Given the description of an element on the screen output the (x, y) to click on. 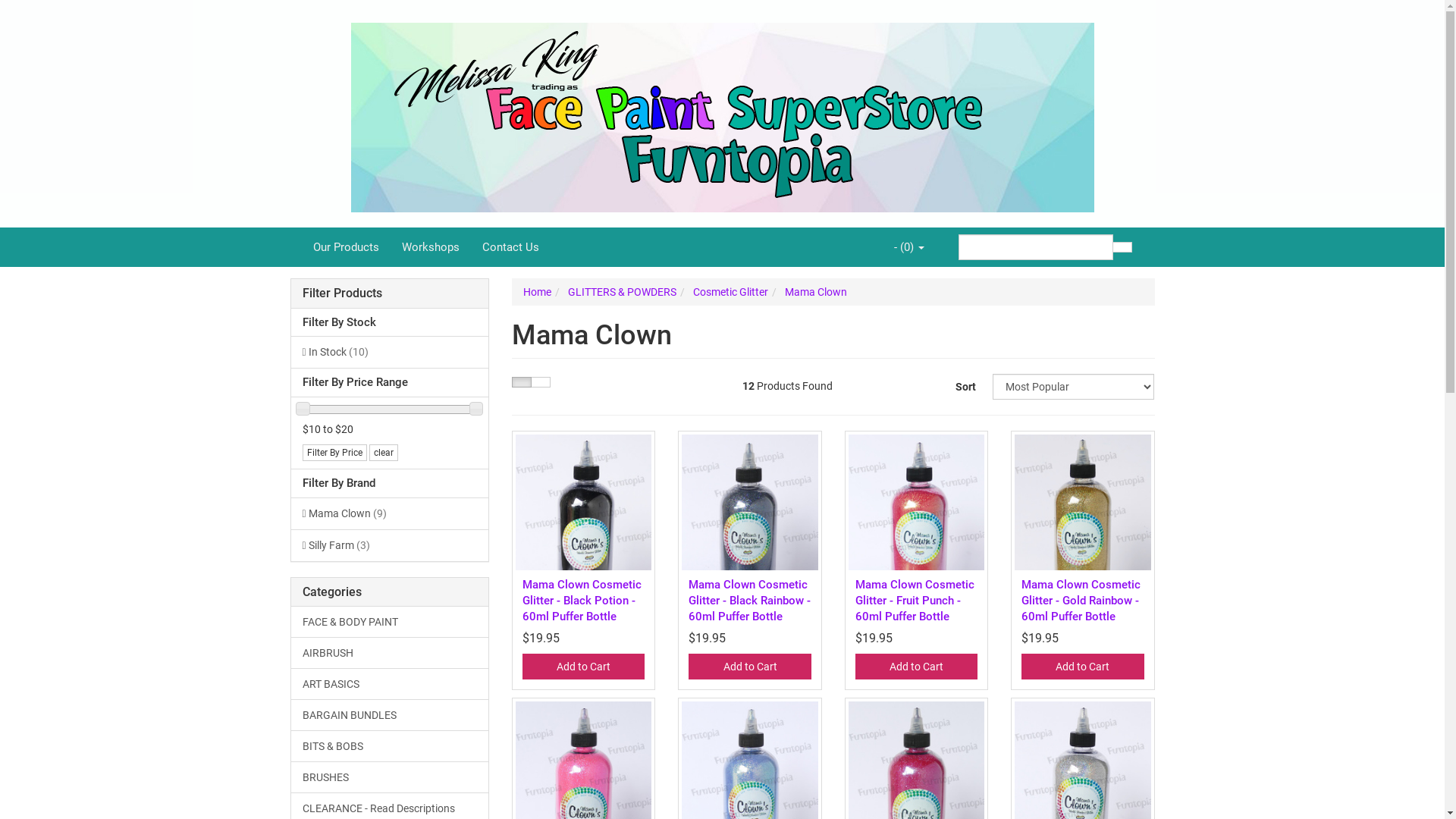
GLITTERS & POWDERS Element type: text (621, 291)
In Stock (10) Element type: text (390, 351)
Search Element type: text (1121, 246)
Silly Farm (3) Element type: text (390, 545)
Contact Us Element type: text (509, 247)
Home Element type: text (537, 291)
- (0) Element type: text (908, 247)
FACE & BODY PAINT Element type: text (390, 621)
Add to Cart Element type: text (1082, 666)
Our Products Element type: text (345, 247)
Workshops Element type: text (429, 247)
Mama Clown Element type: text (815, 291)
BARGAIN BUNDLES Element type: text (390, 714)
Add to Cart Element type: text (749, 666)
Mama Clown (9) Element type: text (390, 513)
AIRBRUSH Element type: text (390, 652)
Filter Products Element type: text (388, 293)
Filter By Price Element type: text (333, 452)
Add to Cart Element type: text (916, 666)
clear Element type: text (382, 452)
Funtopia Face Paint Super Store Element type: hover (721, 112)
BRUSHES Element type: text (390, 777)
BITS & BOBS Element type: text (390, 746)
ART BASICS Element type: text (390, 683)
Cosmetic Glitter Element type: text (730, 291)
Add to Cart Element type: text (583, 666)
